Given the description of an element on the screen output the (x, y) to click on. 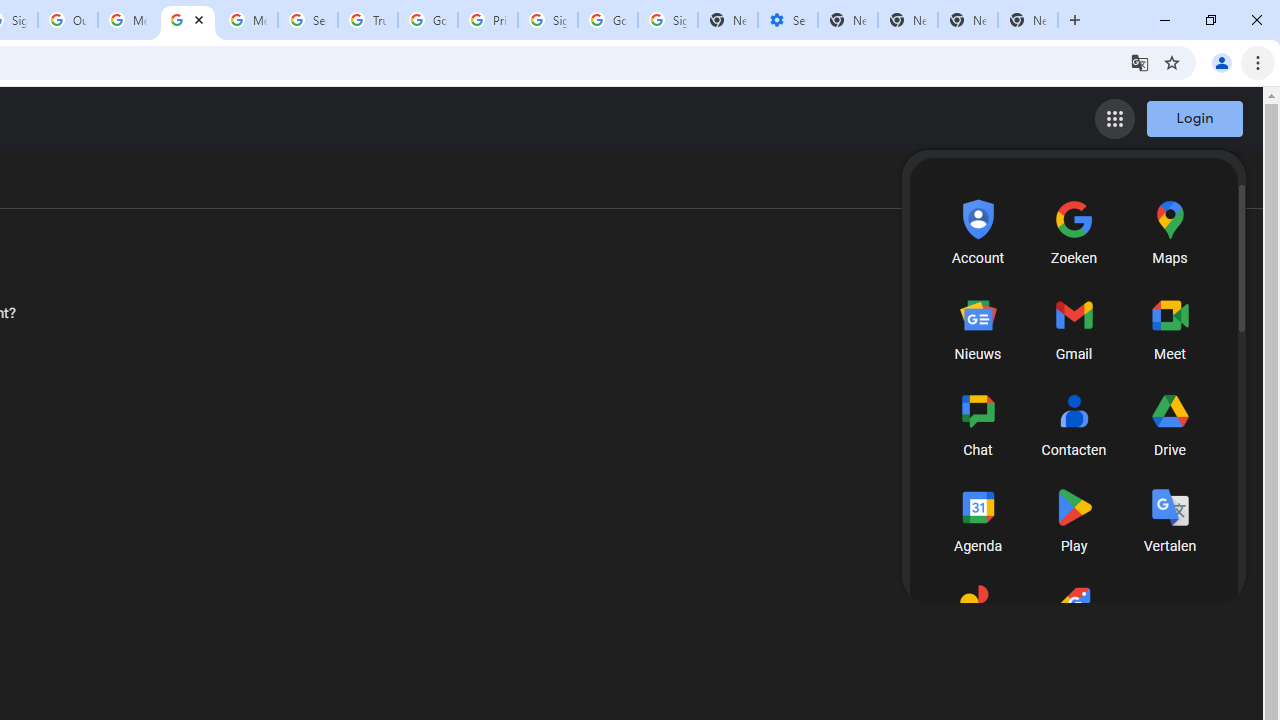
Sign in - Google Accounts (548, 20)
Search our Doodle Library Collection - Google Doodles (307, 20)
Sign in - Google Accounts (667, 20)
New Tab (1028, 20)
